Given the description of an element on the screen output the (x, y) to click on. 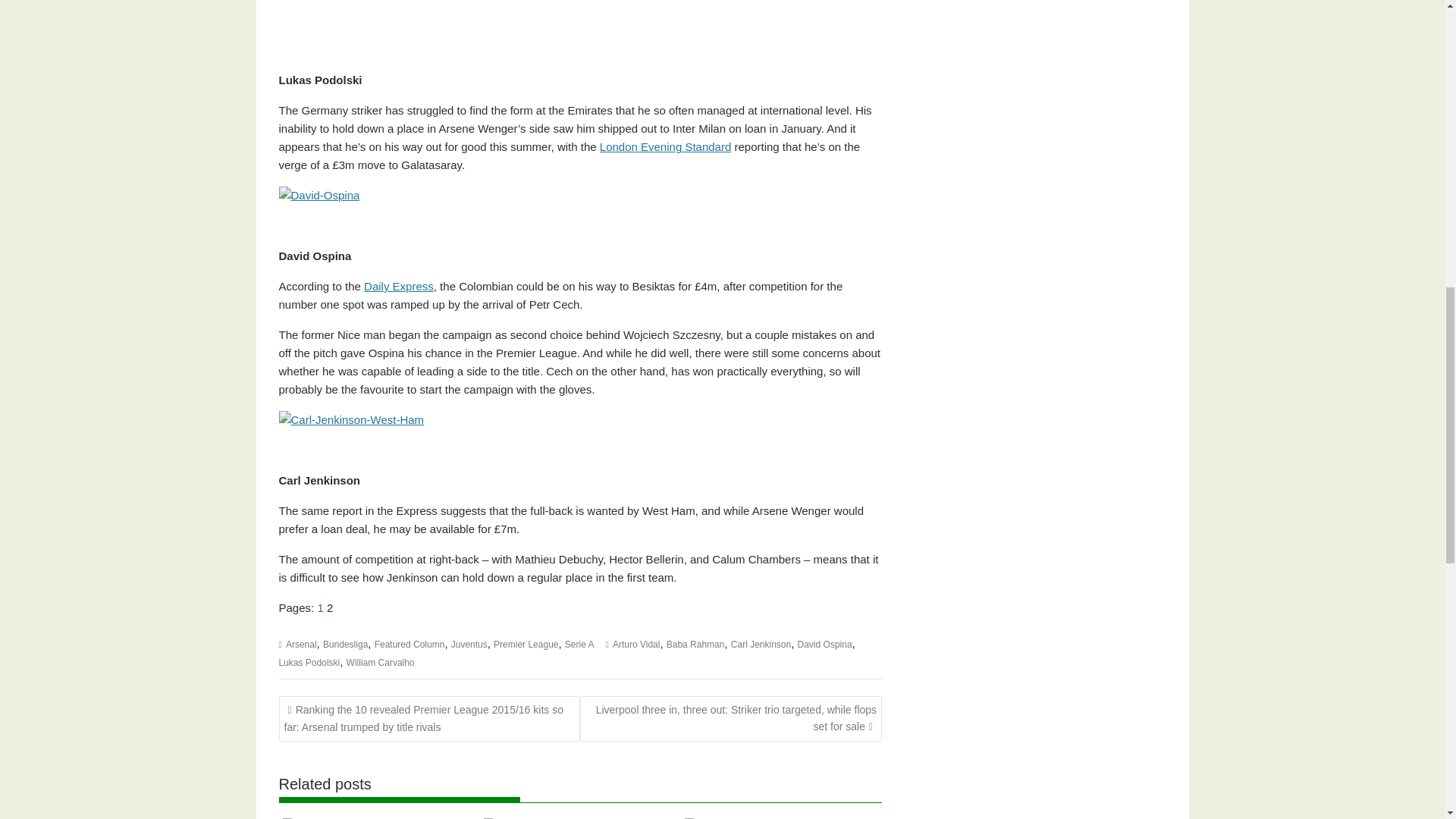
London Evening Standard (664, 146)
Featured Column (409, 643)
Daily Express (398, 286)
David Ospina (824, 643)
Premier League (525, 643)
Serie A (579, 643)
Arsenal (301, 643)
Carl Jenkinson (760, 643)
Arturo Vidal (635, 643)
